Given the description of an element on the screen output the (x, y) to click on. 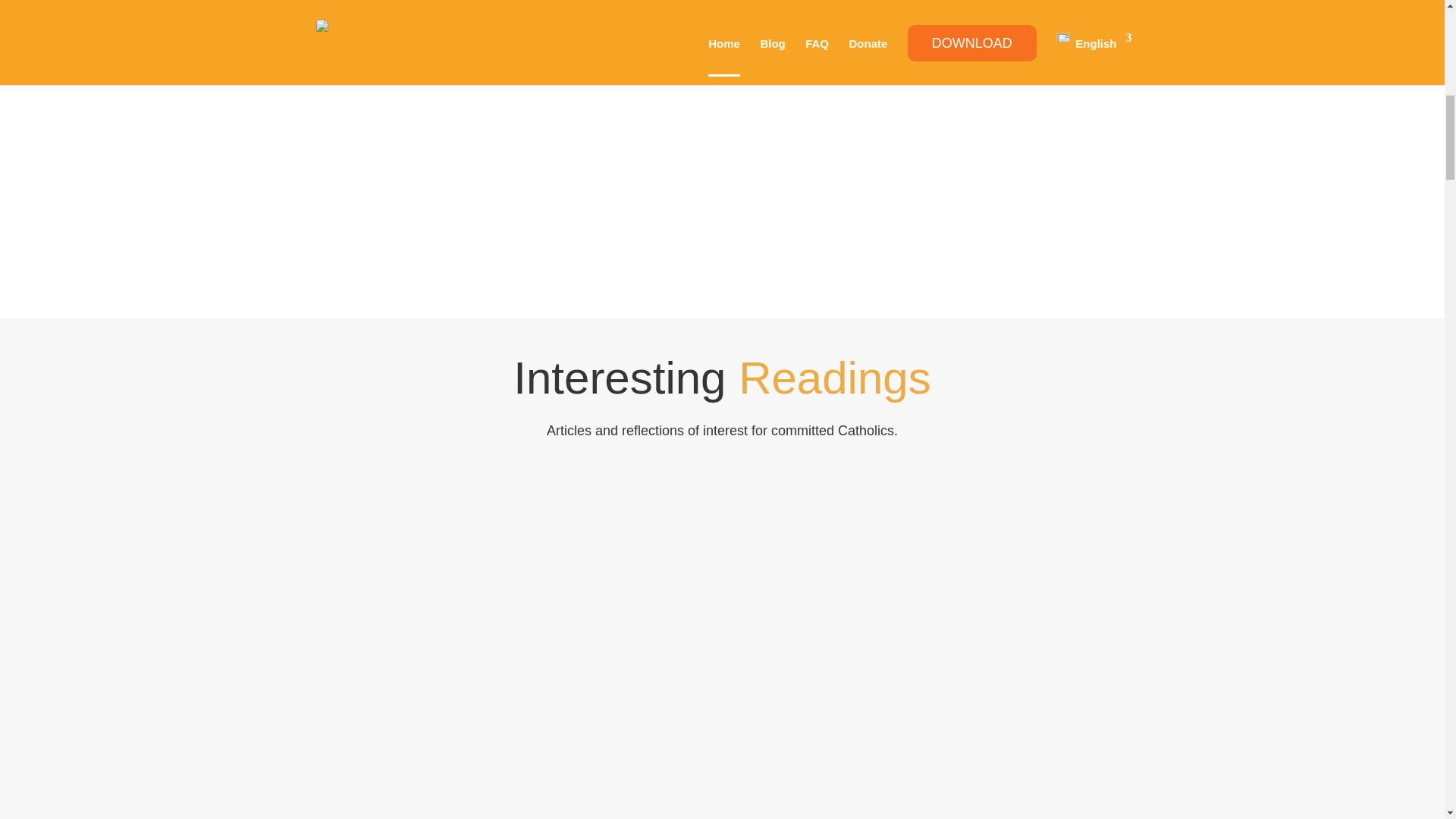
Catholic Mass Times - Recommended by EWTN (937, 164)
Catholic Mass Times - Recommended by VATICAN NEWS (505, 164)
Catholic Mass Times - Recommended by ACIPRENSA (361, 164)
Catholic Mass Times - Recommended by 10 MIN WITH JESUS (648, 164)
Catholic Mass Times - Recommended by INFOBAE (793, 164)
